Given the description of an element on the screen output the (x, y) to click on. 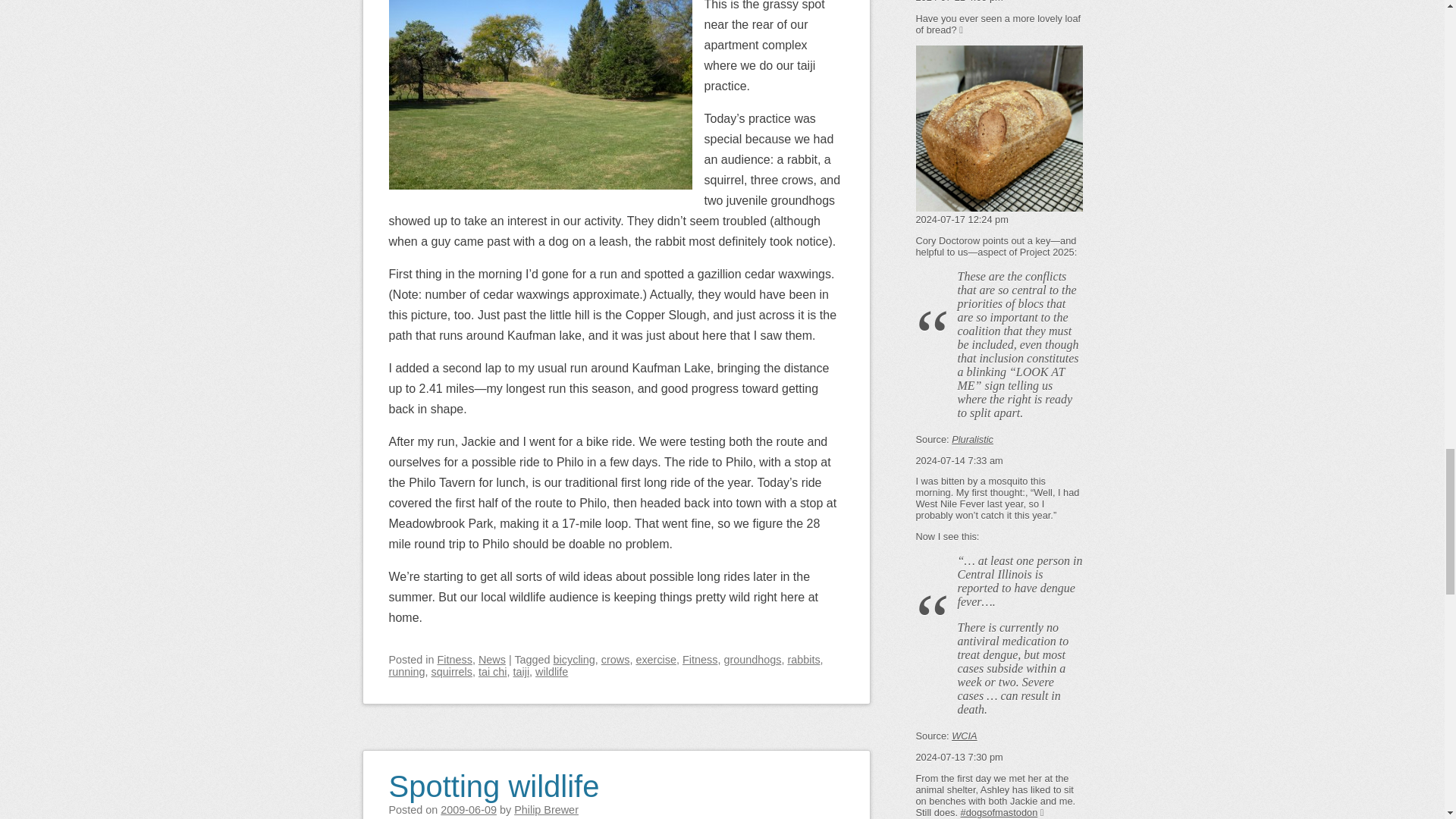
rabbits (803, 659)
2009-06-09 (468, 809)
View all posts by Philip Brewer (545, 809)
crows (615, 659)
12:58 pm (468, 809)
wildlife (551, 671)
Fitness (454, 659)
taiji-spot (539, 94)
exercise (655, 659)
Permalink to Spotting wildlife (493, 777)
bicycling (574, 659)
Spotting wildlife (493, 777)
tai chi (492, 671)
taiji (520, 671)
running (406, 671)
